Given the description of an element on the screen output the (x, y) to click on. 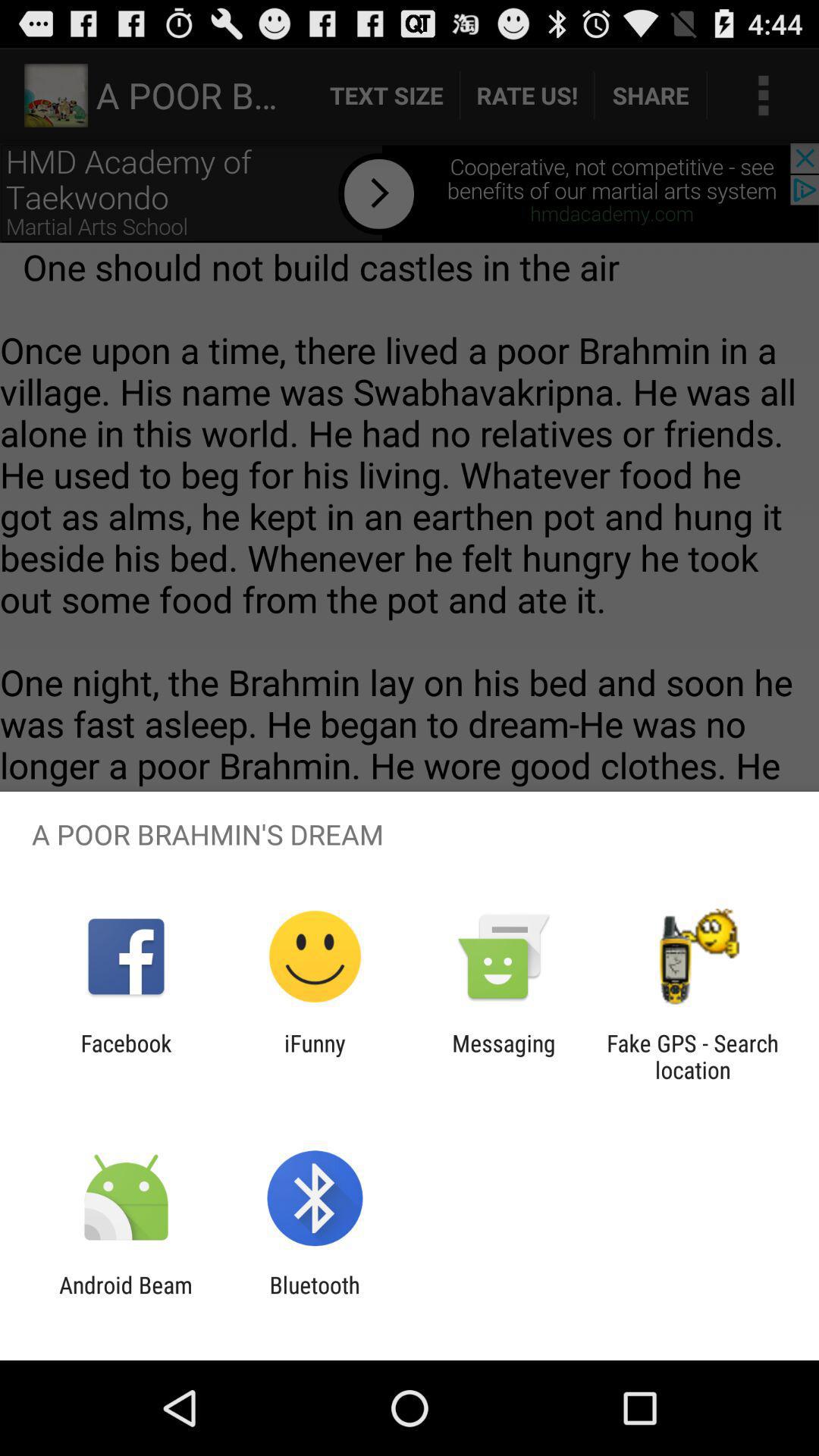
turn on fake gps search (692, 1056)
